Given the description of an element on the screen output the (x, y) to click on. 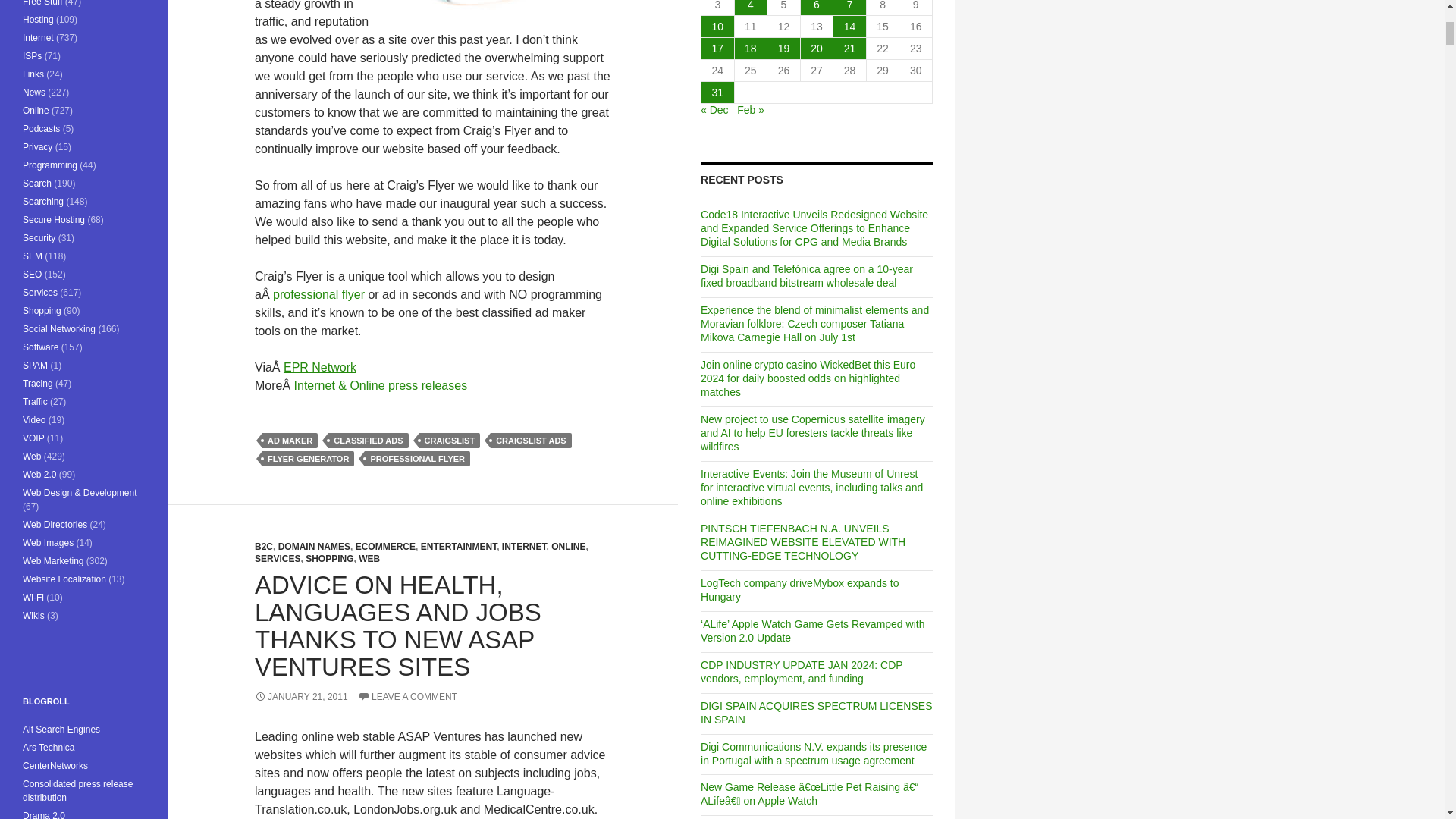
INTERNET (524, 546)
EPR Network (319, 367)
SHOPPING (329, 558)
CRAIGSLIST ADS (531, 440)
professional flyer (319, 294)
SERVICES (276, 558)
ECOMMERCE (384, 546)
B2C (263, 546)
PROFESSIONAL FLYER (417, 458)
ENTERTAINMENT (458, 546)
AD MAKER (289, 440)
ONLINE (568, 546)
DOMAIN NAMES (314, 546)
FLYER GENERATOR (307, 458)
CRAIGSLIST (449, 440)
